Given the description of an element on the screen output the (x, y) to click on. 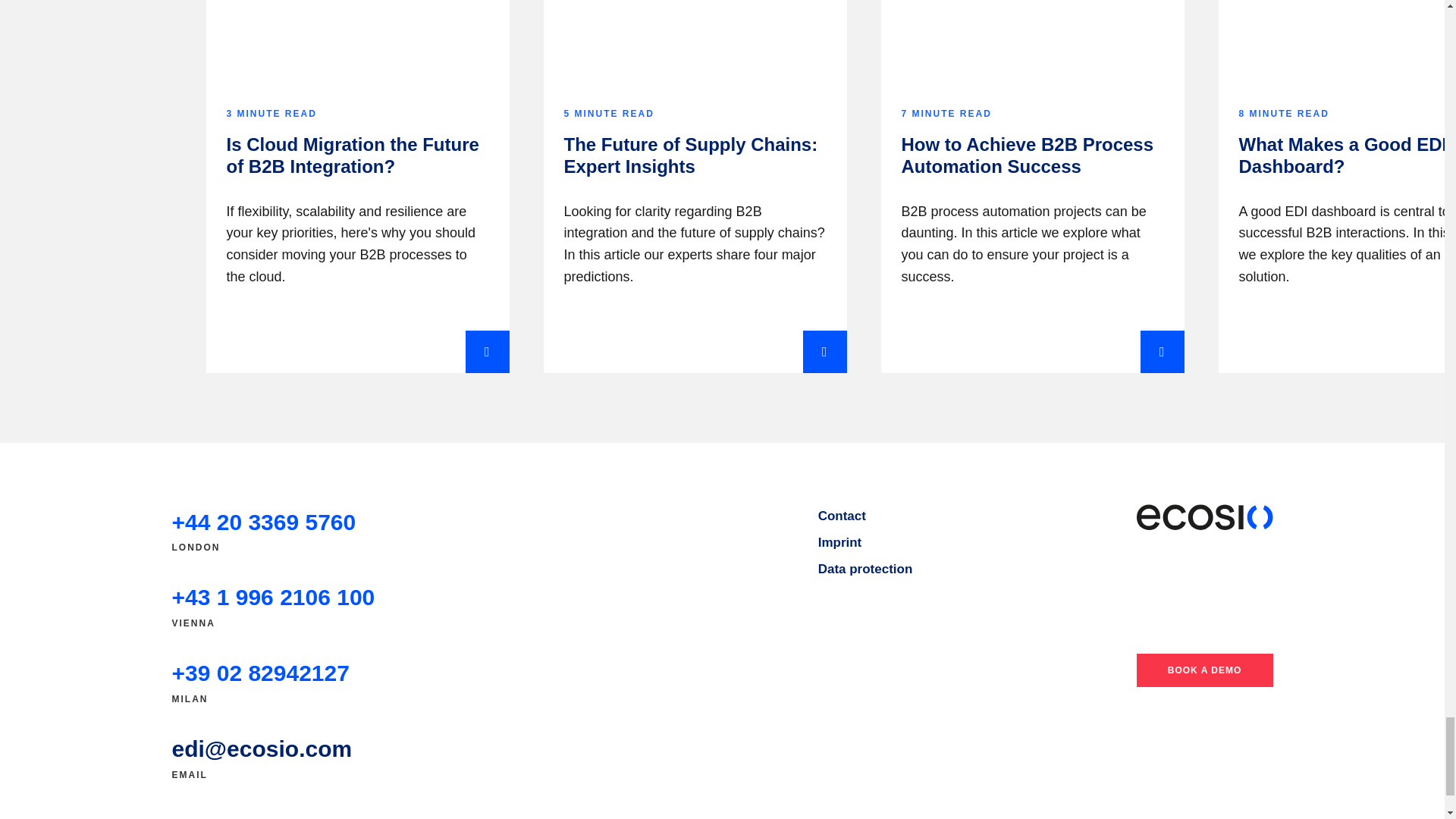
Ecosio LONDON (263, 522)
Contact (842, 515)
Ecosio EMAIL (261, 749)
Ecosio VIENNA (272, 597)
Imprint (839, 542)
Ecosio MILAN (260, 673)
to the home page (1203, 516)
Data protection (865, 569)
